Given the description of an element on the screen output the (x, y) to click on. 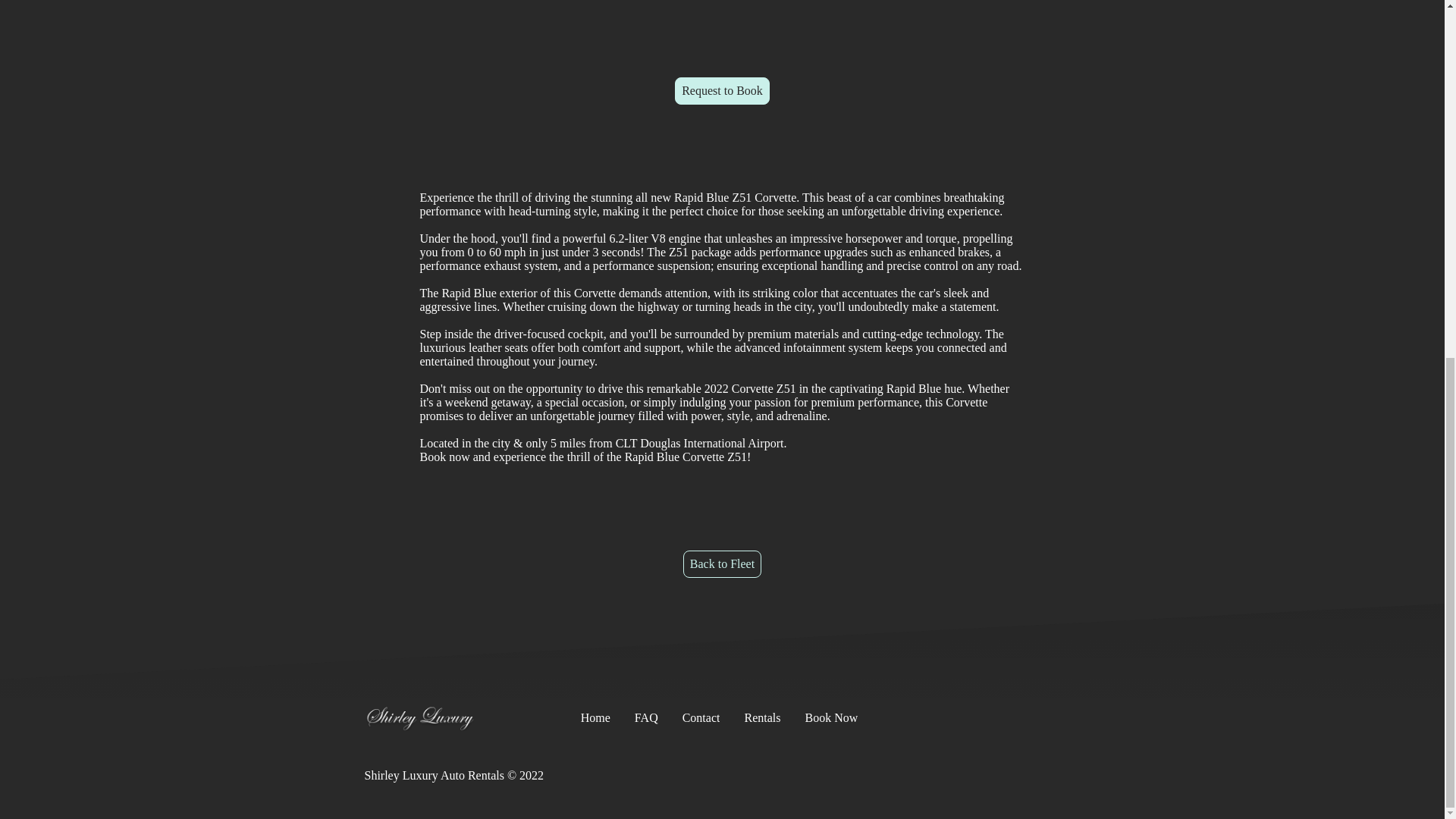
Rentals (761, 718)
Home (595, 718)
Request to Book (722, 90)
Book Now (830, 718)
FAQ (646, 718)
Contact (701, 718)
Back to Fleet (721, 564)
